Given the description of an element on the screen output the (x, y) to click on. 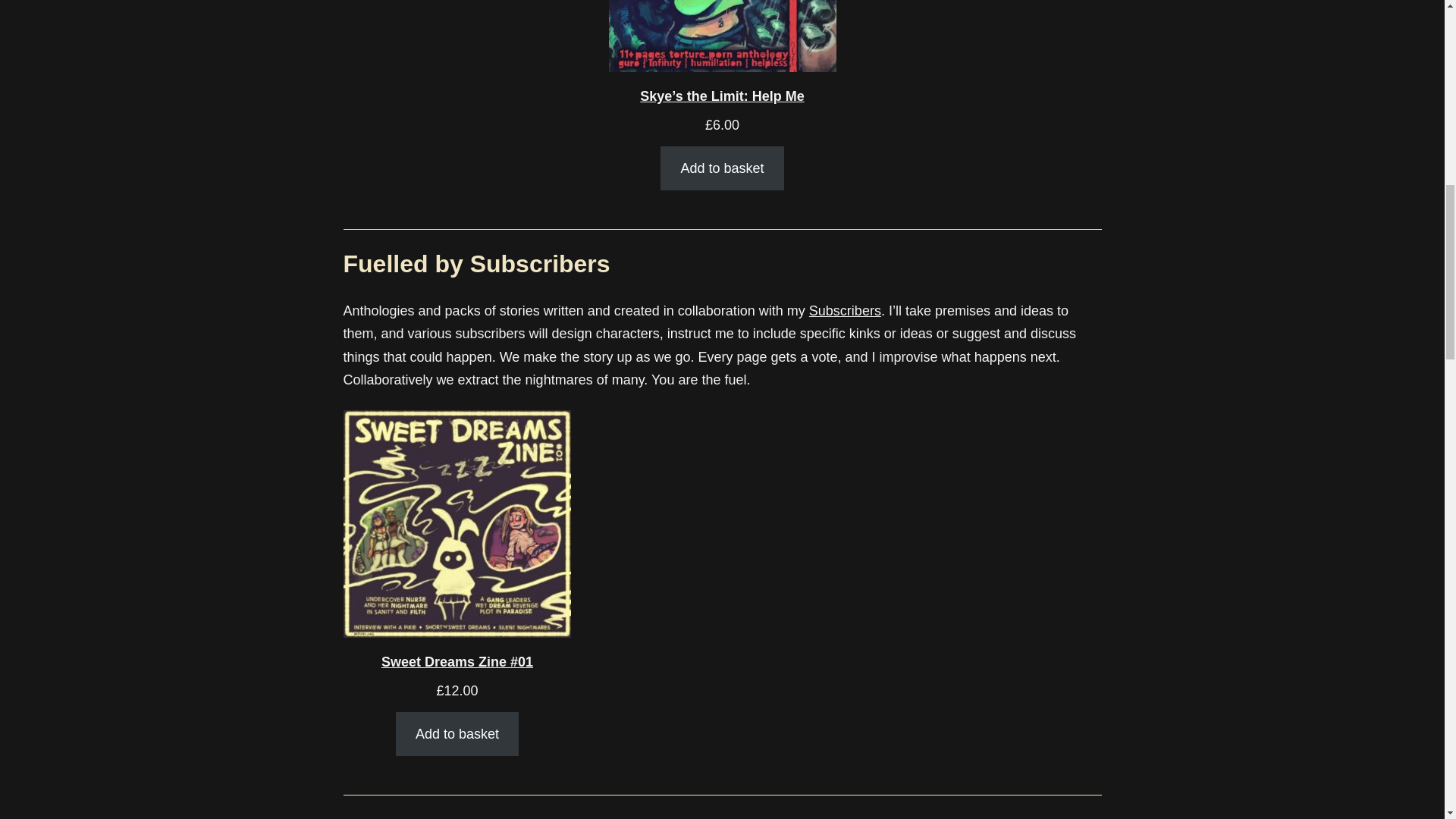
Subscribers (844, 310)
Add to basket (722, 168)
Add to basket (456, 733)
